Given the description of an element on the screen output the (x, y) to click on. 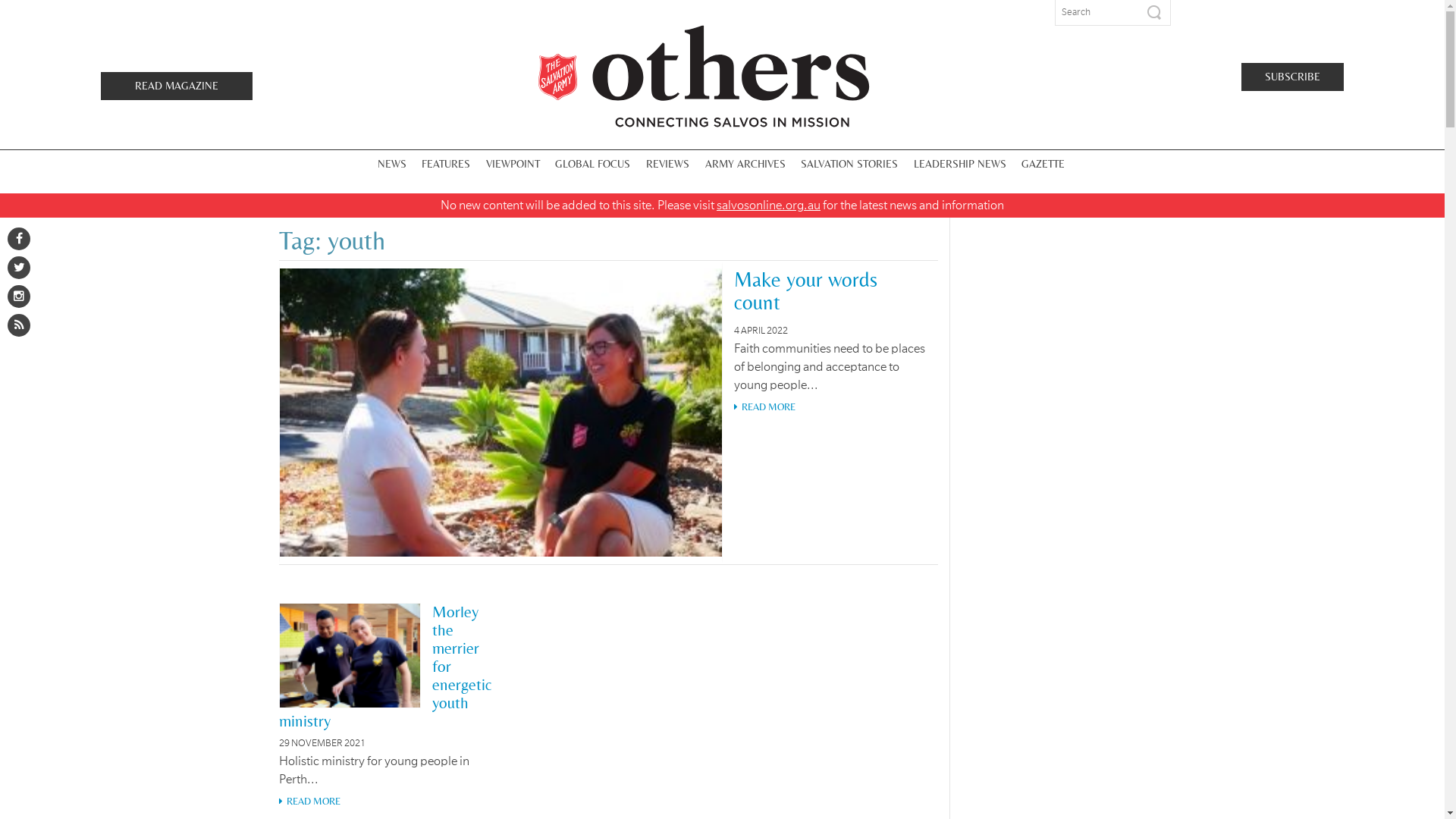
Others Magazine Element type: text (703, 75)
GAZETTE Element type: text (1043, 164)
twitter Element type: hover (18, 267)
instagram Element type: hover (18, 296)
NEWS Element type: text (391, 164)
SUBSCRIBE Element type: text (1292, 75)
facebook Element type: hover (18, 238)
SALVATION STORIES Element type: text (849, 164)
Make your words count Element type: text (805, 290)
salvosonline.org.au Element type: text (768, 205)
READ MORE Element type: text (607, 407)
FEATURES Element type: text (445, 164)
VIEWPOINT Element type: text (512, 164)
GLOBAL FOCUS Element type: text (593, 164)
LEADERSHIP NEWS Element type: text (959, 164)
rss Element type: hover (18, 324)
REVIEWS Element type: text (667, 164)
Morley the merrier for energetic youth ministry Element type: text (385, 666)
ARMY ARCHIVES Element type: text (744, 164)
READ MORE Element type: text (387, 801)
READ MAGAZINE Element type: text (176, 84)
